Given the description of an element on the screen output the (x, y) to click on. 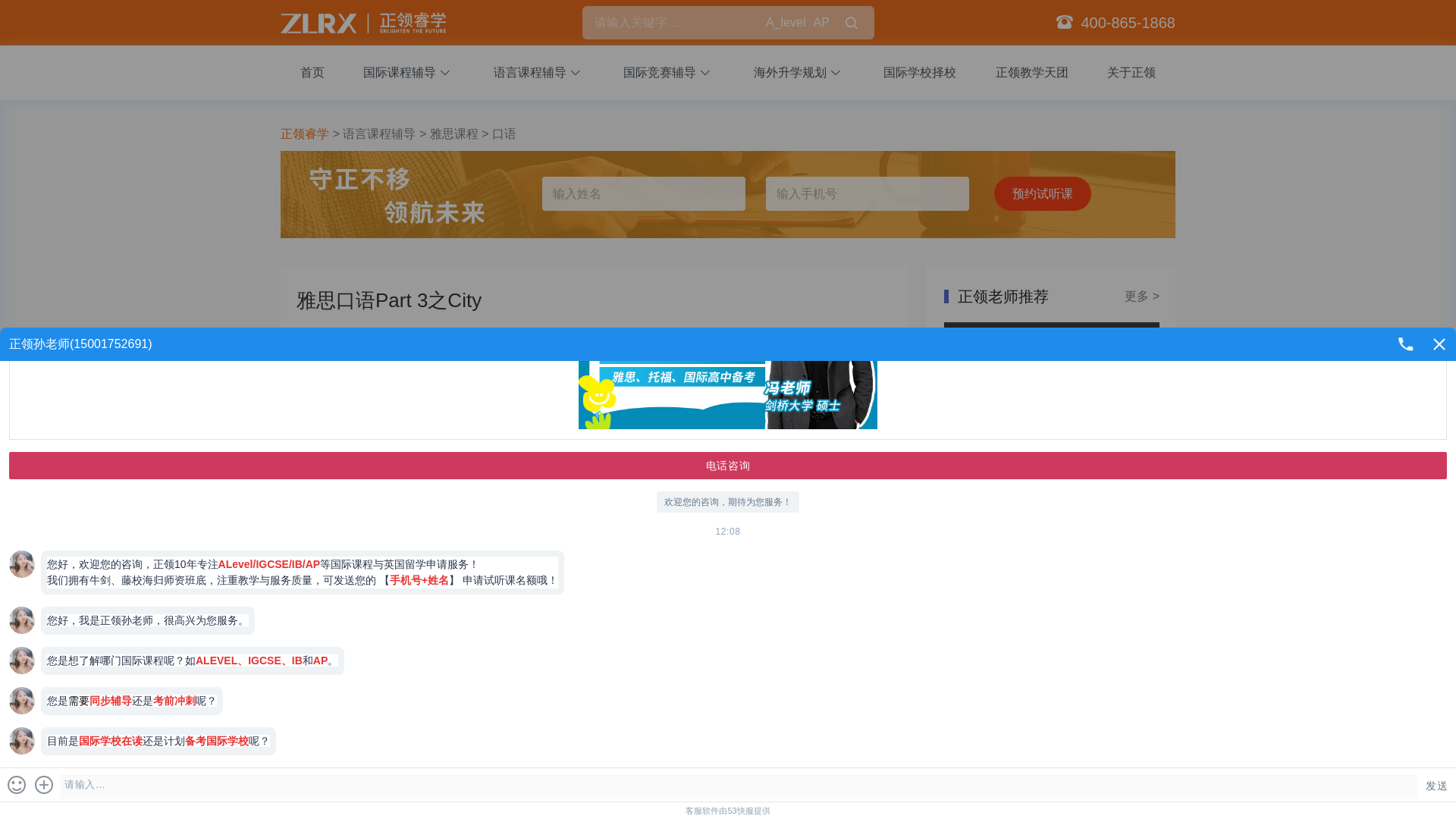
400-865-1868 (1127, 23)
AP (820, 22)
